Given the description of an element on the screen output the (x, y) to click on. 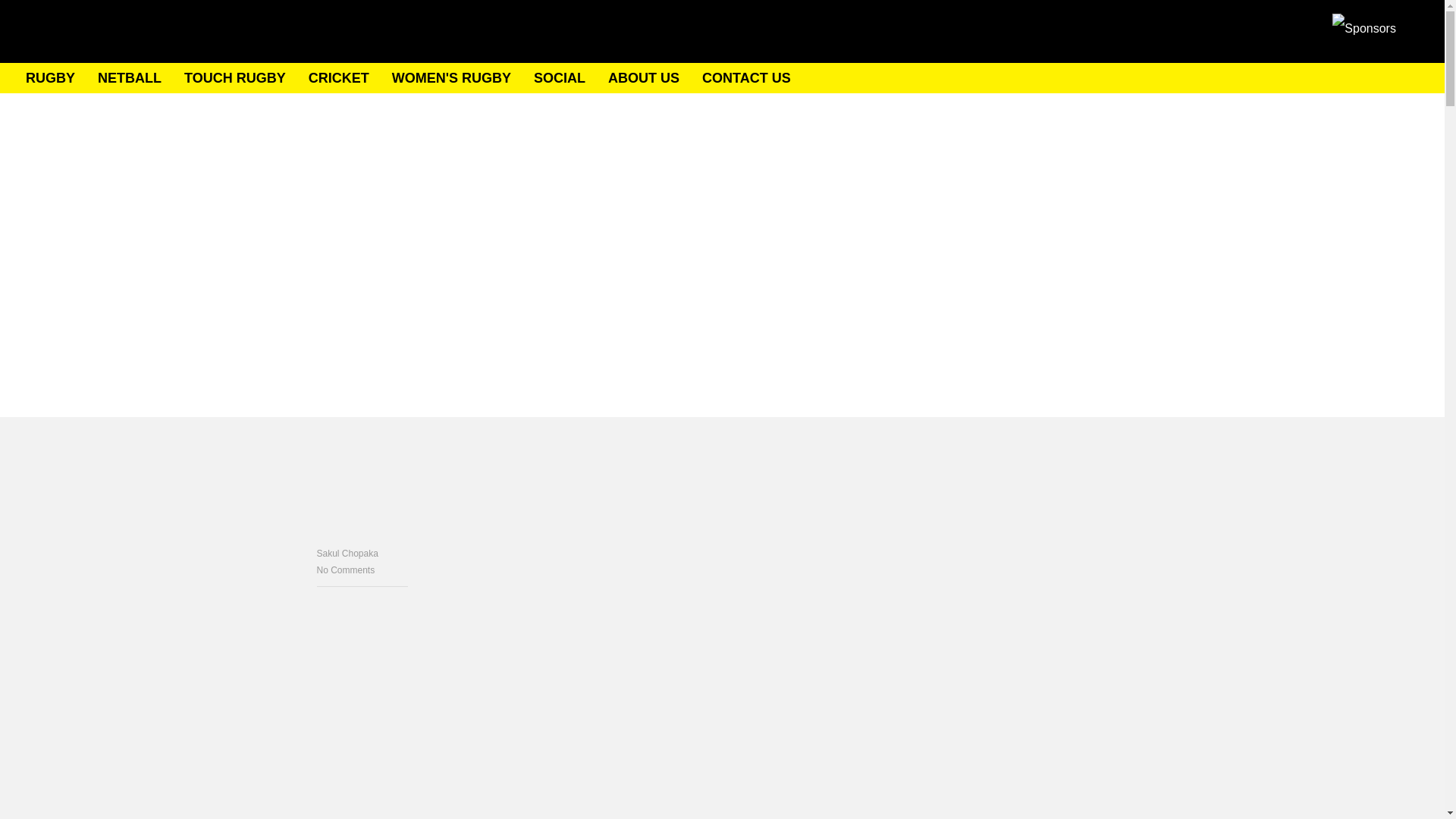
No Comments (362, 570)
NETBALL (129, 78)
SOCIAL (559, 78)
No Comments (362, 570)
Posts by Sakul Chopaka (362, 554)
Sakul Chopaka (362, 554)
CONTACT US (745, 78)
WOMEN'S RUGBY (451, 78)
CRICKET (338, 78)
TOUCH RUGBY (234, 78)
